Given the description of an element on the screen output the (x, y) to click on. 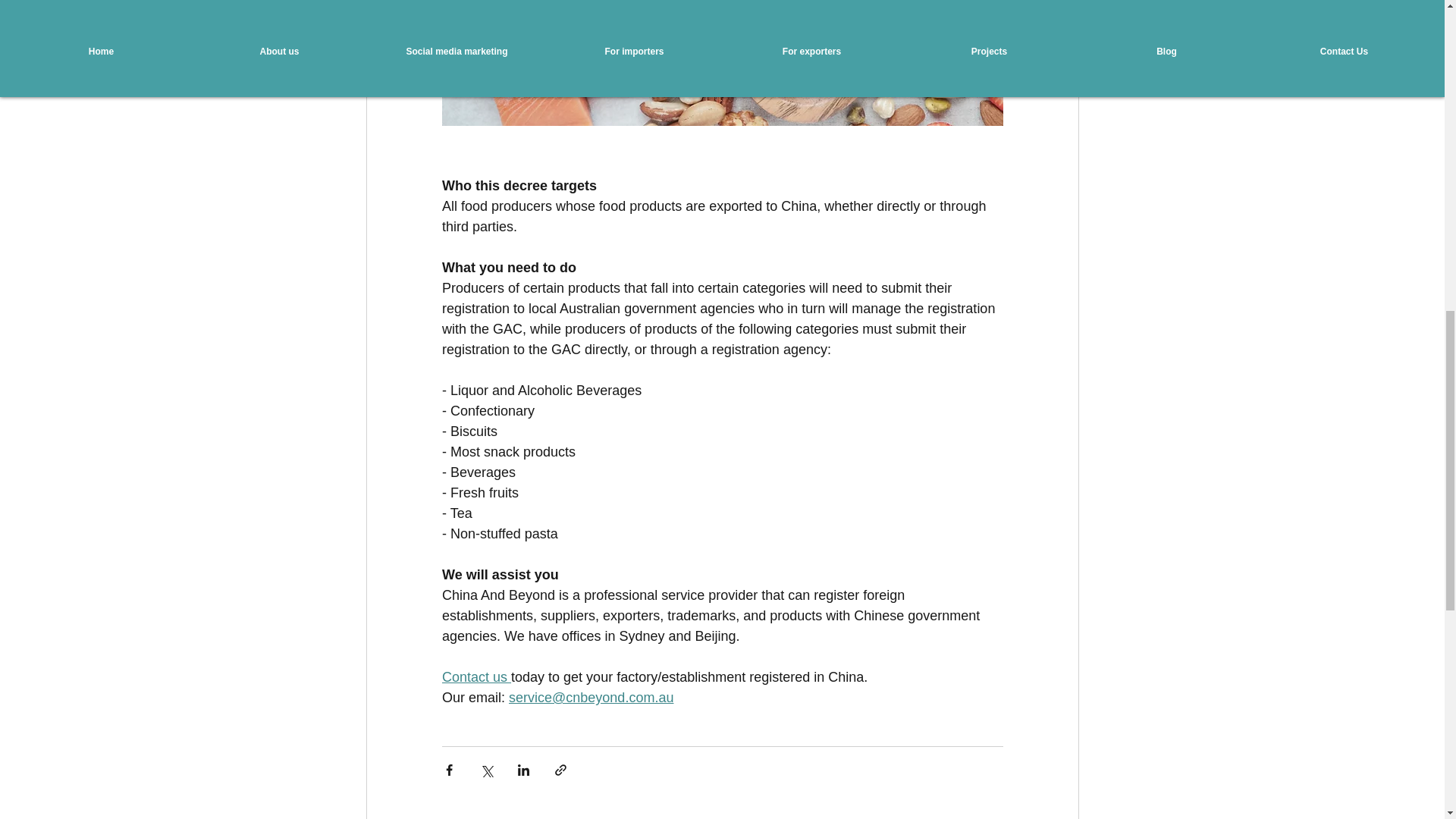
Contact us  (476, 676)
